Given the description of an element on the screen output the (x, y) to click on. 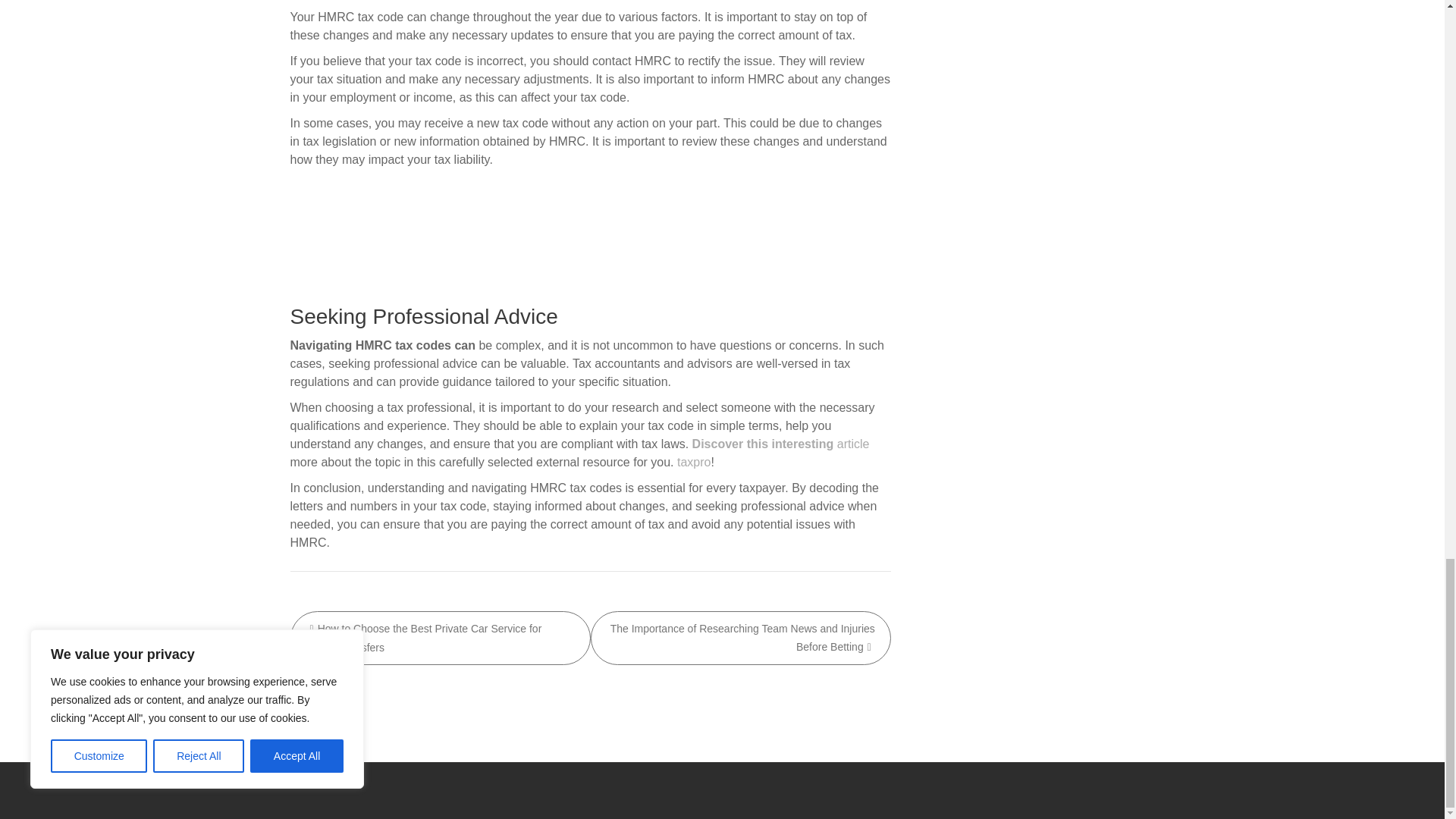
Discover this interesting article (781, 443)
taxpro (693, 461)
